Given the description of an element on the screen output the (x, y) to click on. 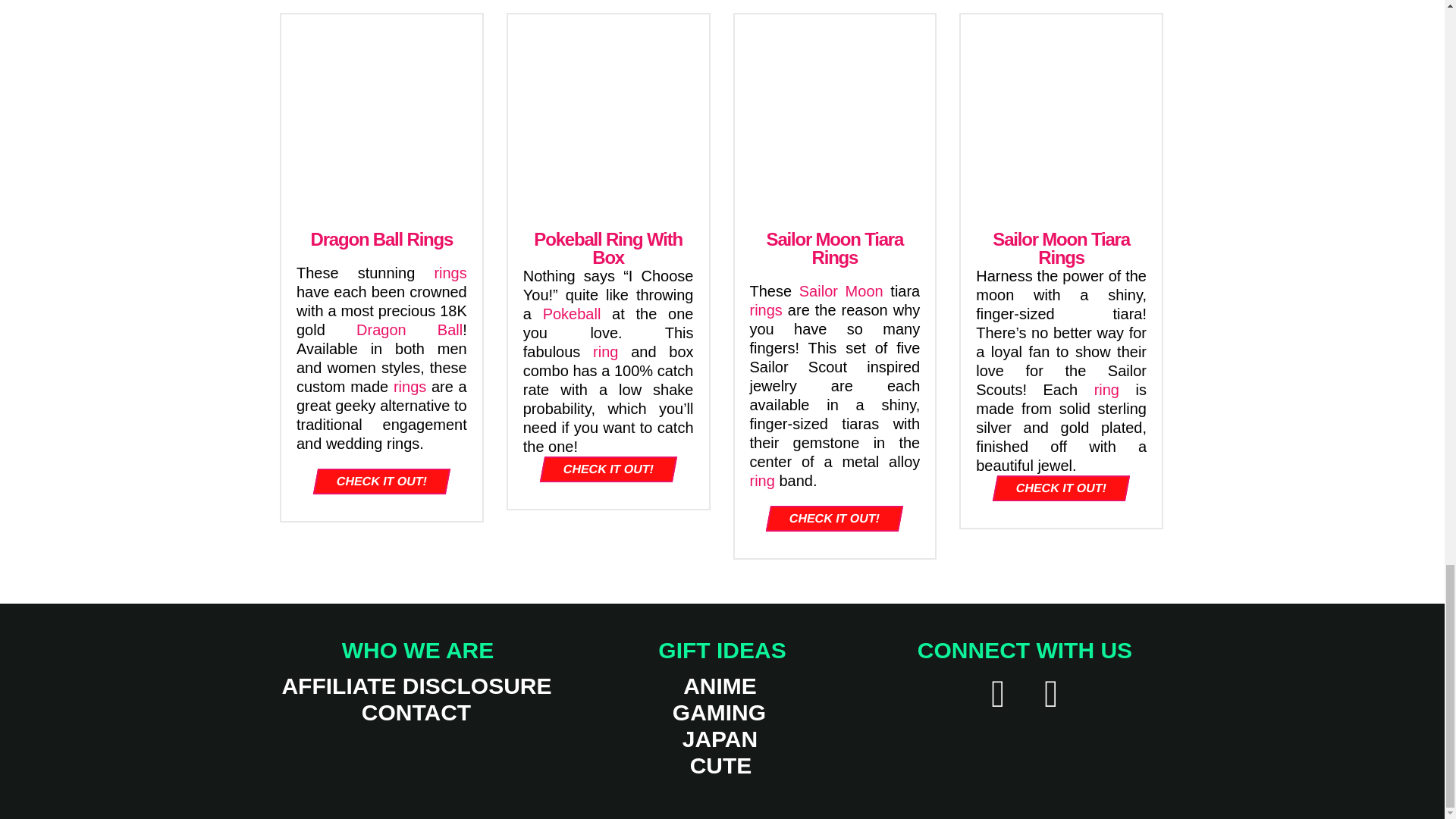
Sailor Moon Tiara Rings - Shut Up And Take My Yen (833, 114)
Sailor Moon Tiara Ring - Shut Up And Take My Yen (1060, 114)
Pokeball Ring With Box - Shut Up And Take My Yen (608, 114)
Dragon Ball Z Rings - Shut Up And Take My Yen (381, 114)
